Given the description of an element on the screen output the (x, y) to click on. 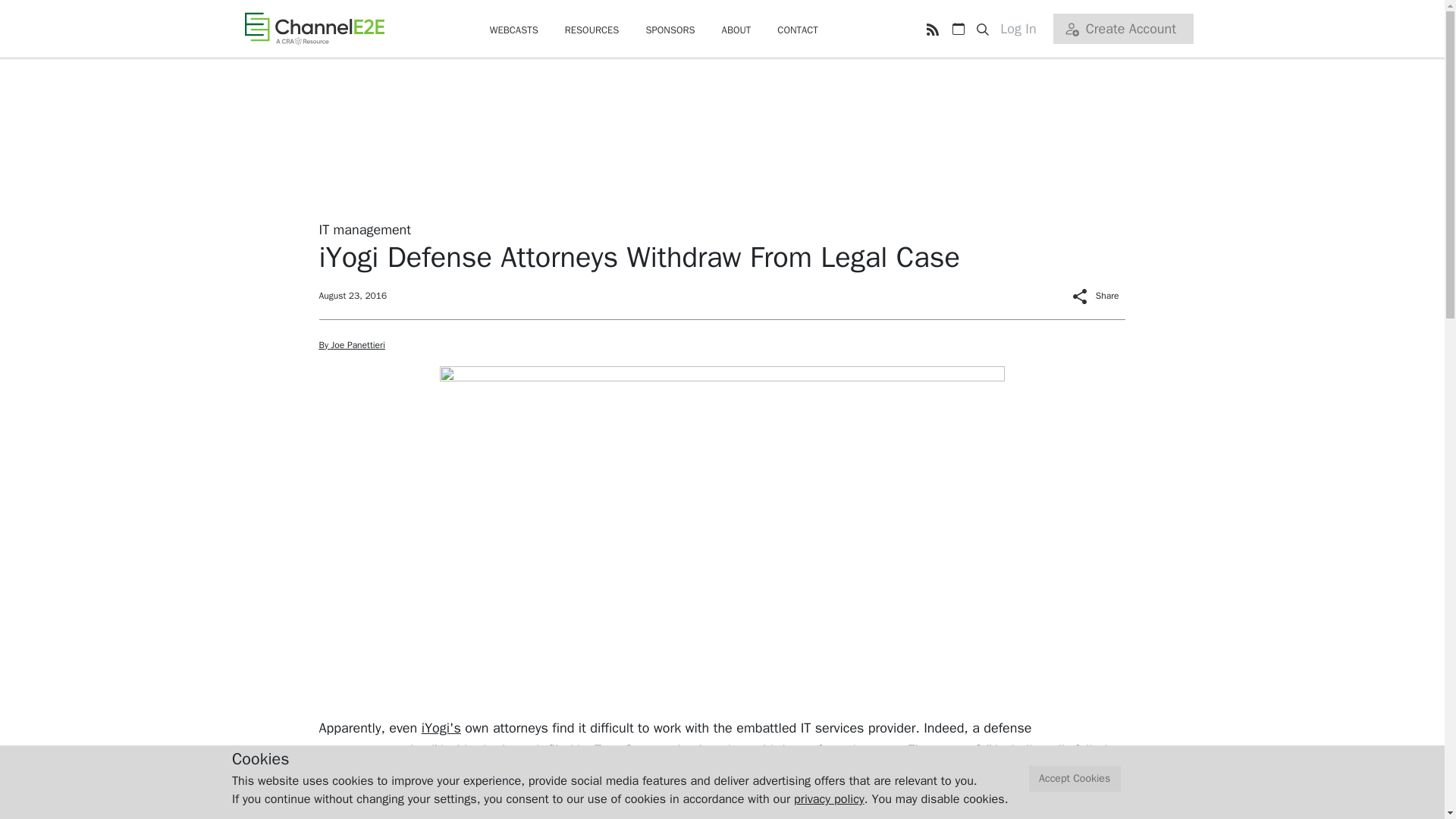
privacy policy (828, 798)
View Cybersecurity Conference Calendar (957, 28)
PilieroMazza PLLC (609, 812)
WEBCASTS (513, 30)
Create Account (1122, 29)
Log In (1023, 29)
SPONSORS (669, 30)
Tata Communications (658, 750)
RESOURCES (592, 30)
ABOUT (736, 30)
